Given the description of an element on the screen output the (x, y) to click on. 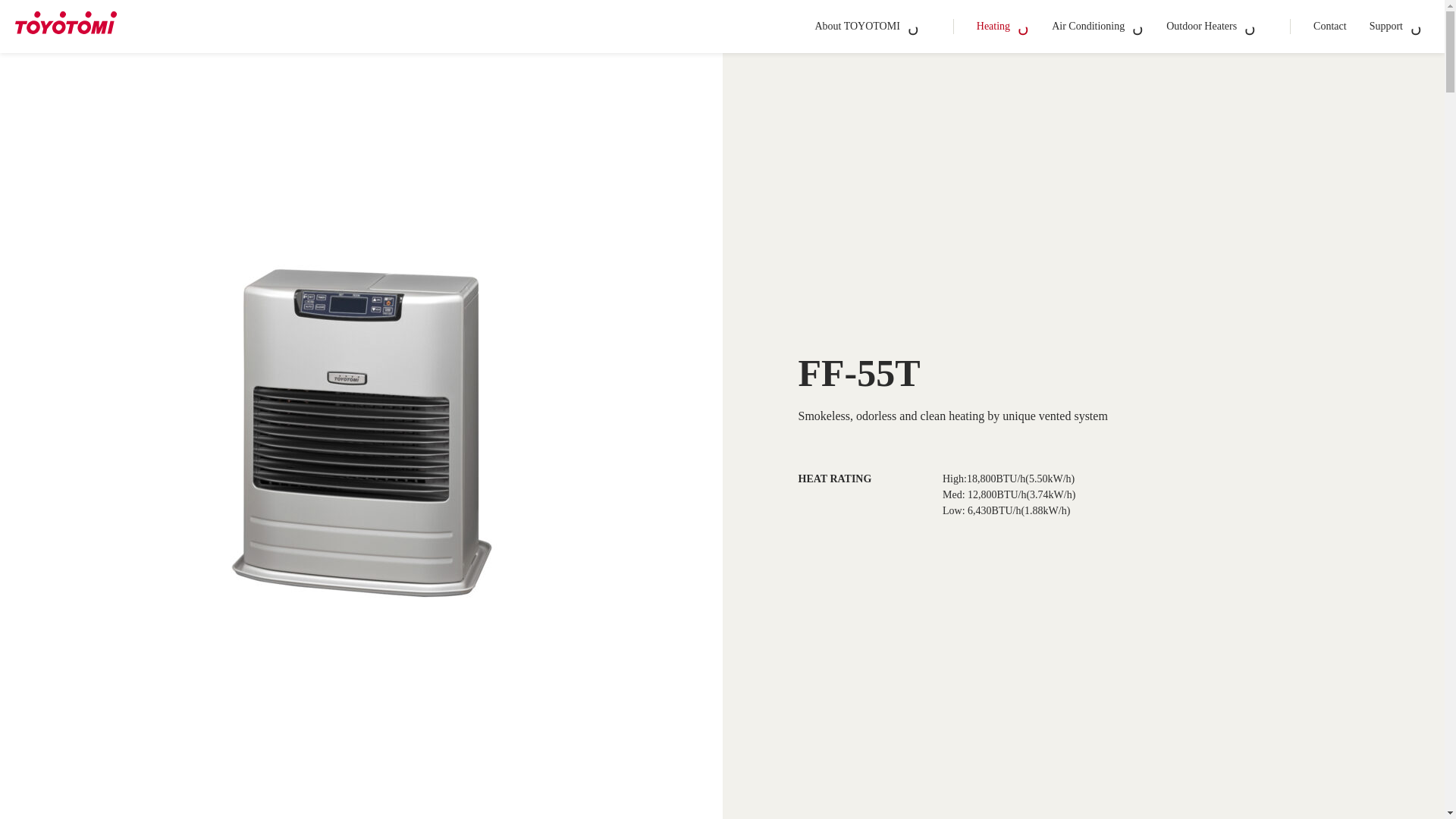
Support (1396, 26)
